Given the description of an element on the screen output the (x, y) to click on. 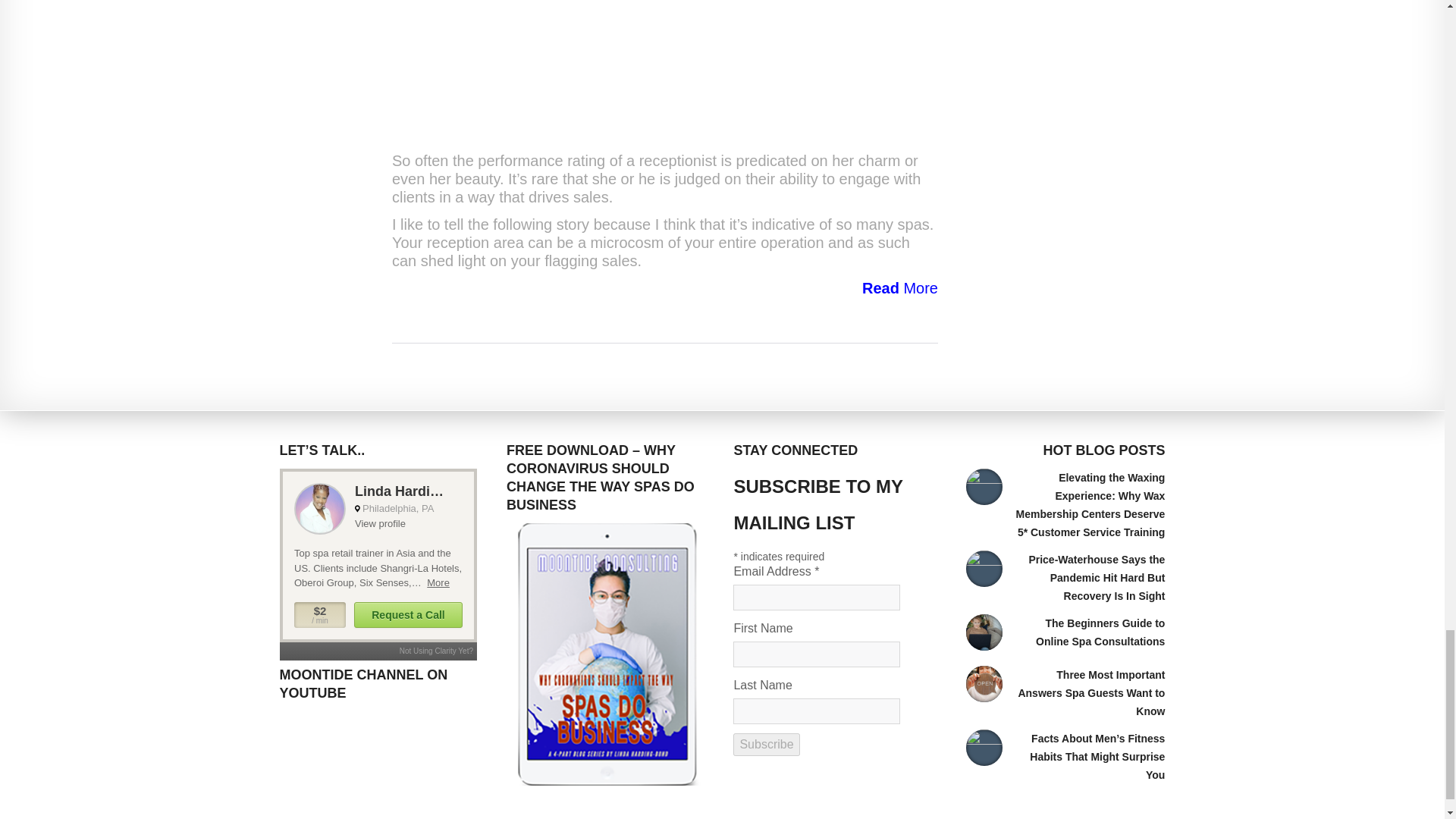
Subscribe (766, 744)
The Beginners Guide to Online Spa Consultations (1099, 632)
